Given the description of an element on the screen output the (x, y) to click on. 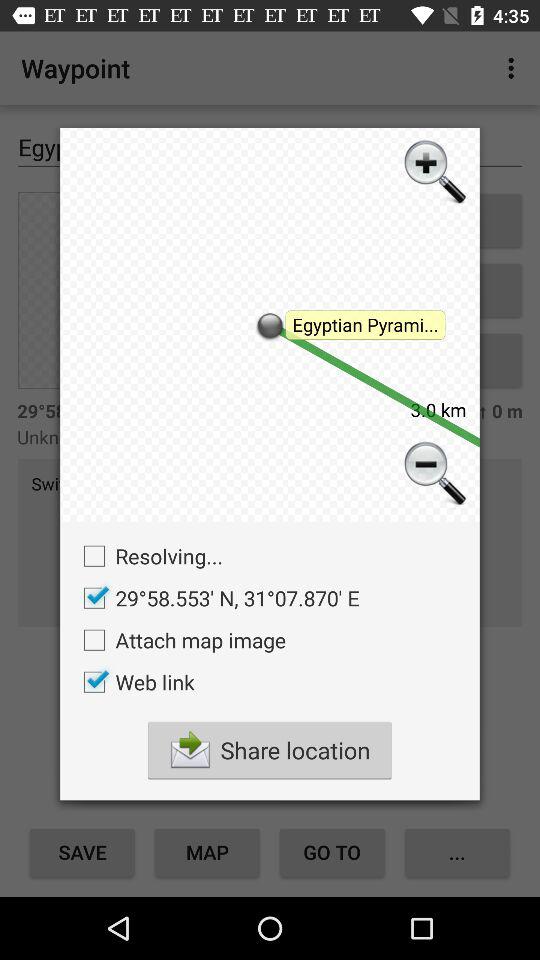
open icon below resolving... icon (216, 598)
